Given the description of an element on the screen output the (x, y) to click on. 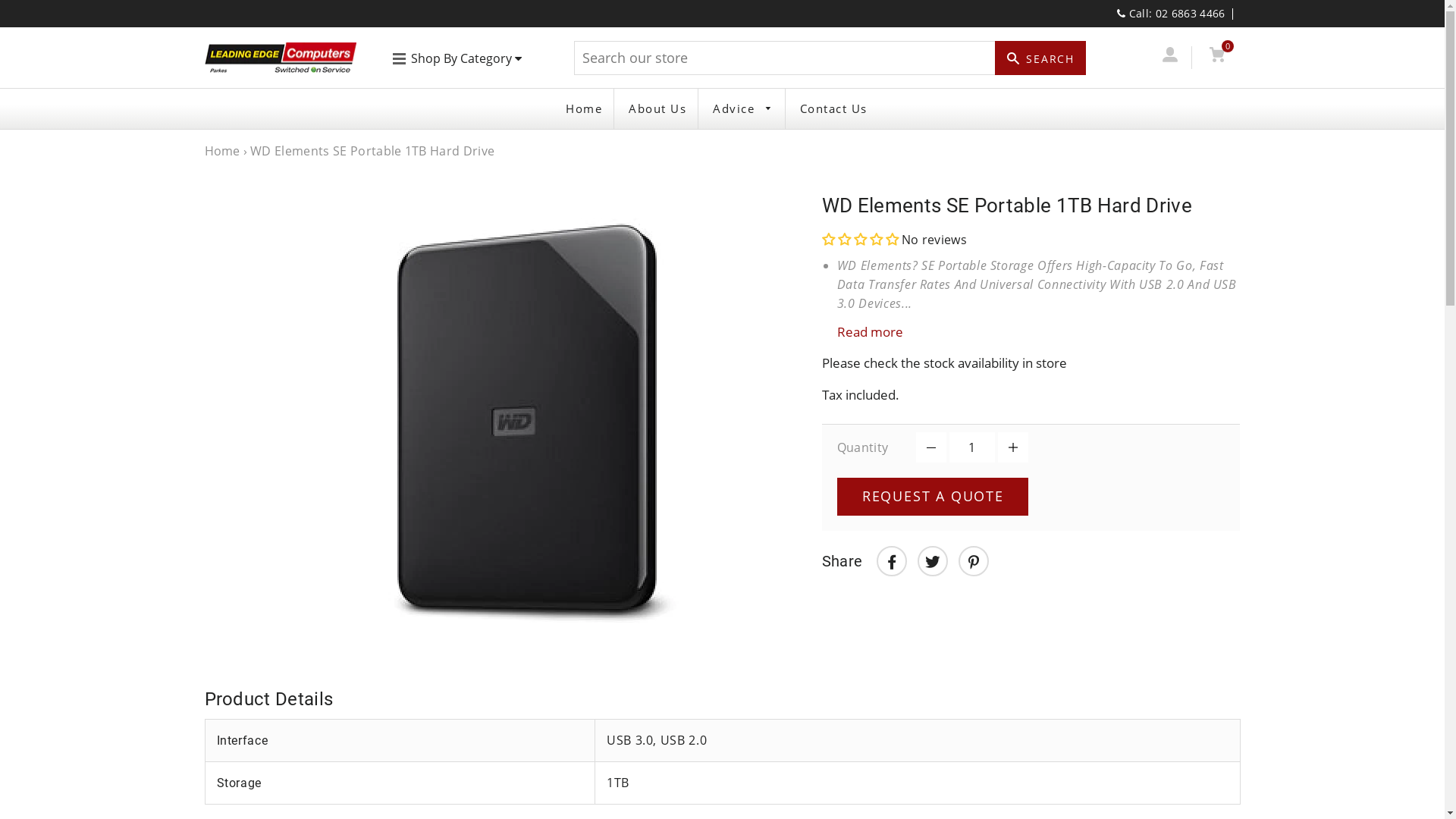
SEARCH Element type: text (1039, 57)
Tweet
Tweet on Twitter Element type: text (932, 561)
Home Element type: text (583, 108)
Advice Element type: text (742, 108)
About Us Element type: text (657, 108)
Cart
0 Element type: text (1217, 56)
Call: 02 6863 4466 Element type: text (1170, 13)
Contact Us Element type: text (833, 108)
Share
Share on Facebook Element type: text (891, 561)
Read more Element type: text (1031, 332)
Log In Element type: text (1170, 56)
REQUEST A QUOTE Element type: text (932, 496)
Home Element type: text (222, 150)
Pin it
Pin on Pinterest Element type: text (973, 561)
